Given the description of an element on the screen output the (x, y) to click on. 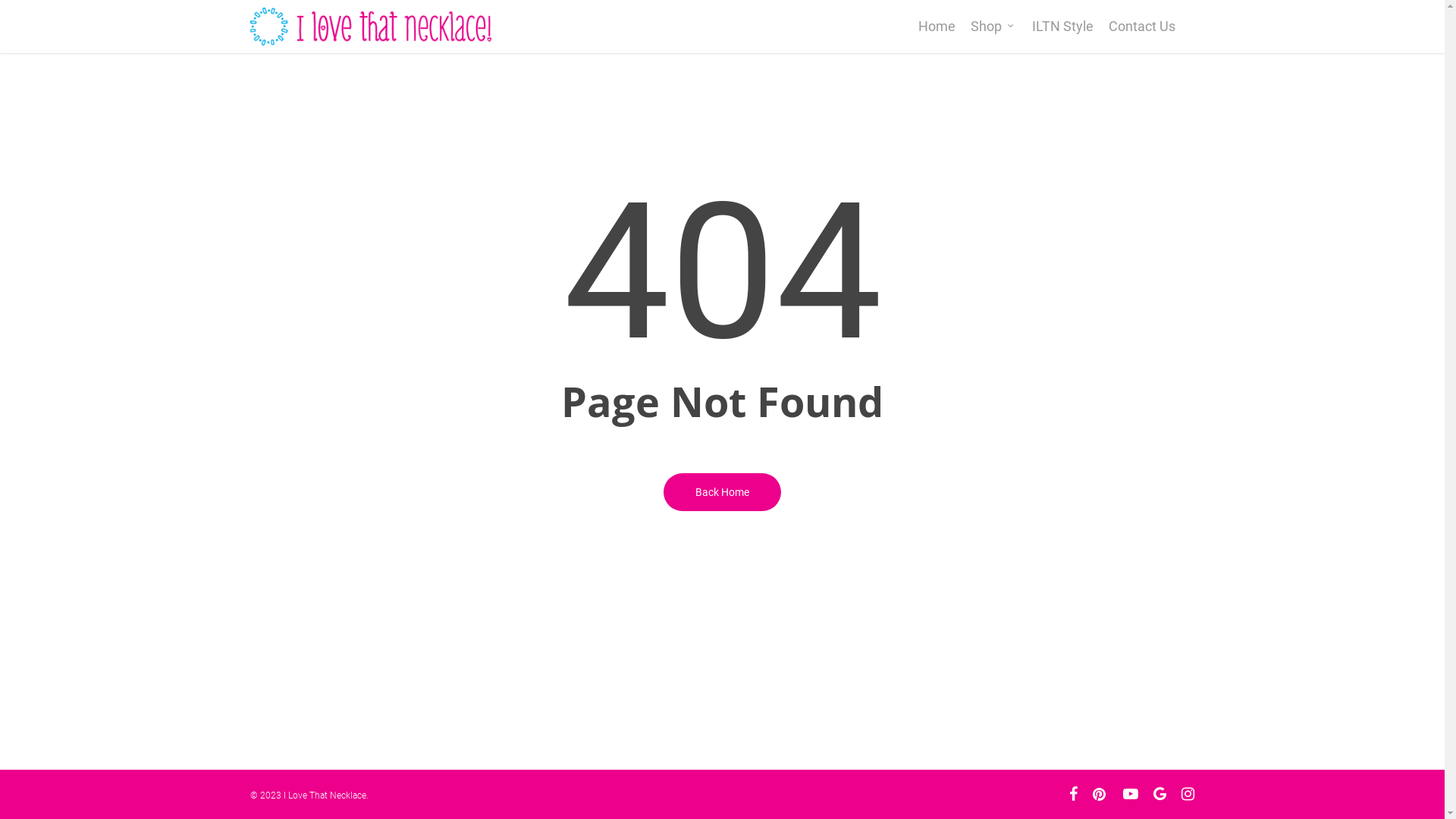
Home Element type: text (936, 26)
pinterest Element type: text (1099, 793)
0 Element type: text (1210, 33)
Back Home Element type: text (722, 492)
ILTN Style Element type: text (1062, 26)
Contact Us Element type: text (1142, 26)
Shop Element type: text (993, 26)
google-plus Element type: text (1159, 793)
instagram Element type: text (1187, 793)
youtube Element type: text (1130, 793)
facebook Element type: text (1073, 793)
